Given the description of an element on the screen output the (x, y) to click on. 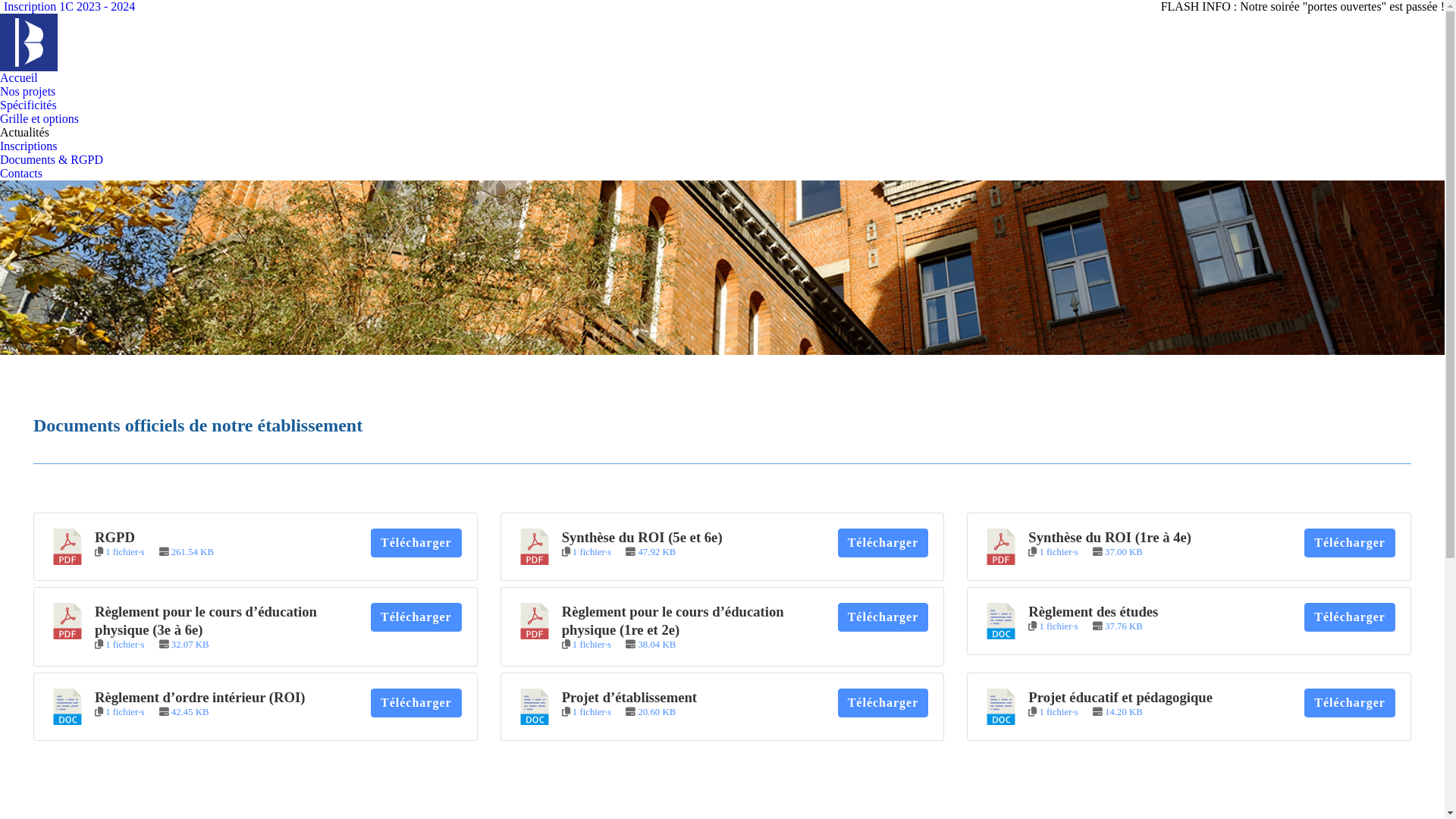
Inscription 1C 2023 - 2024 Element type: text (67, 6)
Grille et options Element type: text (39, 118)
Accueil Element type: text (18, 77)
Contacts Element type: text (21, 173)
RGPD Element type: text (114, 537)
Documents & RGPD Element type: text (51, 159)
Nos projets Element type: text (27, 91)
Inscriptions Element type: text (28, 146)
